Given the description of an element on the screen output the (x, y) to click on. 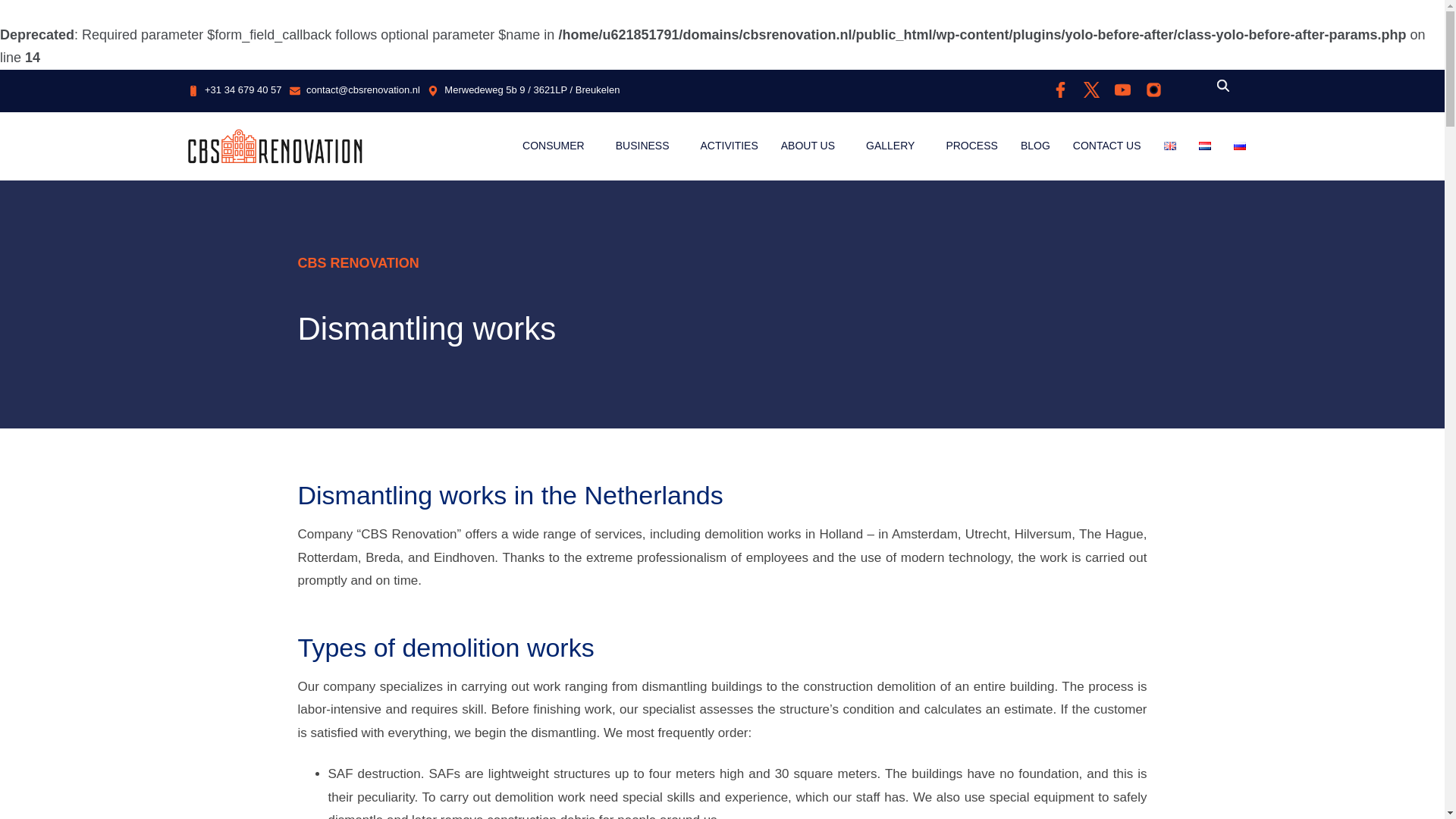
BUSINESS (646, 145)
BLOG (1035, 145)
GALLERY (894, 145)
CONTACT US (1107, 145)
ABOUT US (812, 145)
CONSUMER (557, 145)
PROCESS (971, 145)
ACTIVITIES (729, 145)
